Given the description of an element on the screen output the (x, y) to click on. 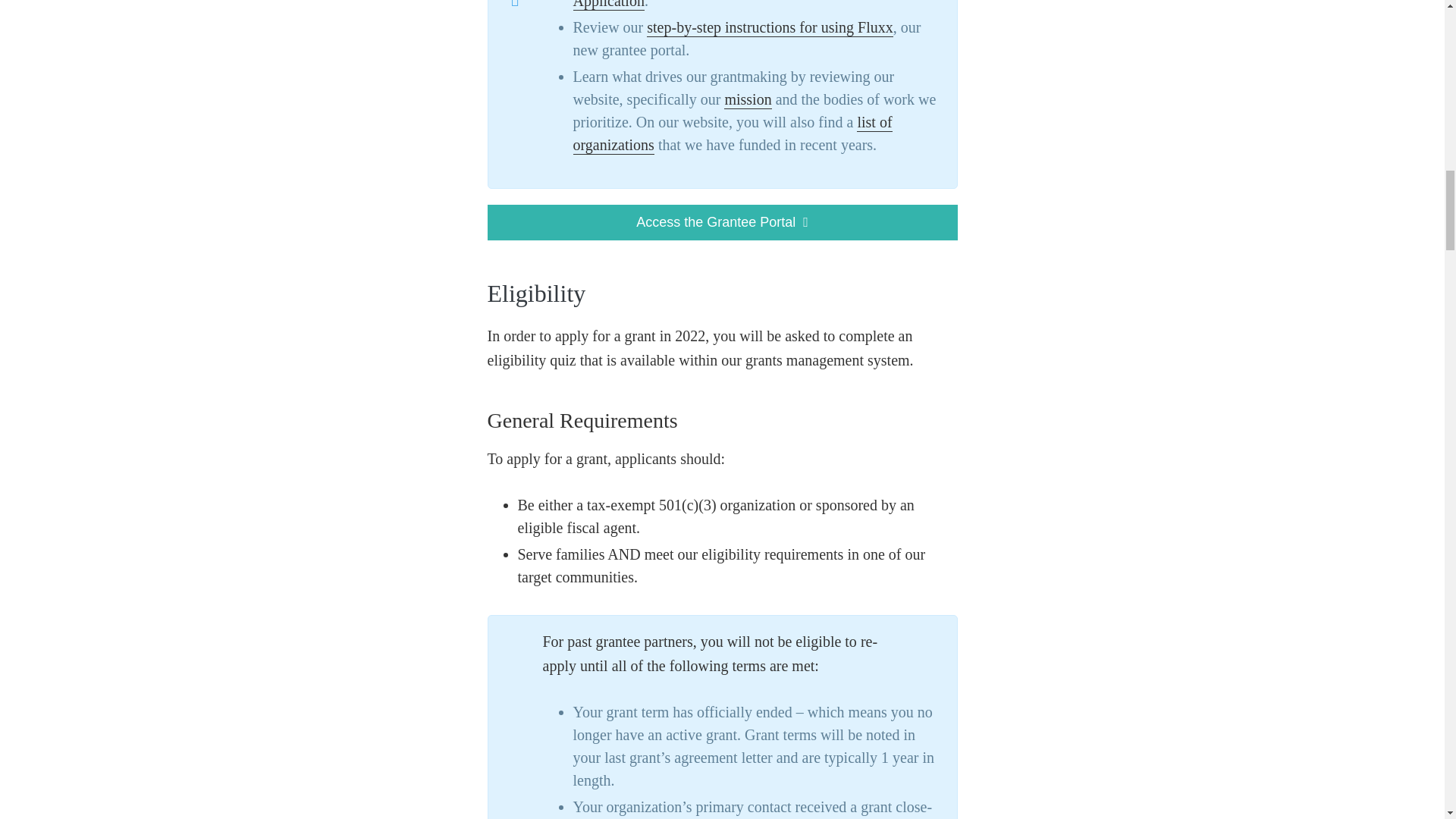
step-by-step instructions for using Fluxx (769, 27)
2022 Responsive Grantmaking Grant Application (731, 5)
mission (747, 99)
